Given the description of an element on the screen output the (x, y) to click on. 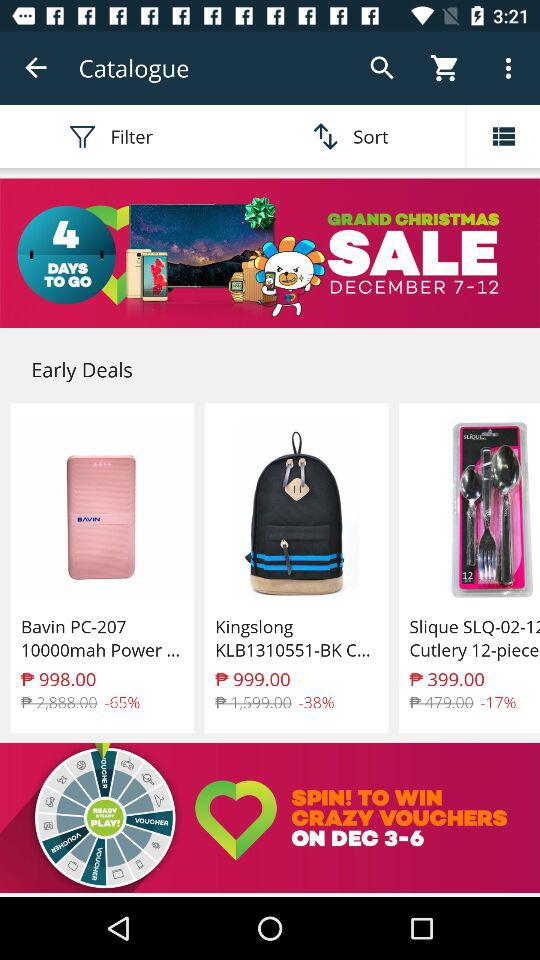
go to christmas sale advertisement (270, 253)
